Given the description of an element on the screen output the (x, y) to click on. 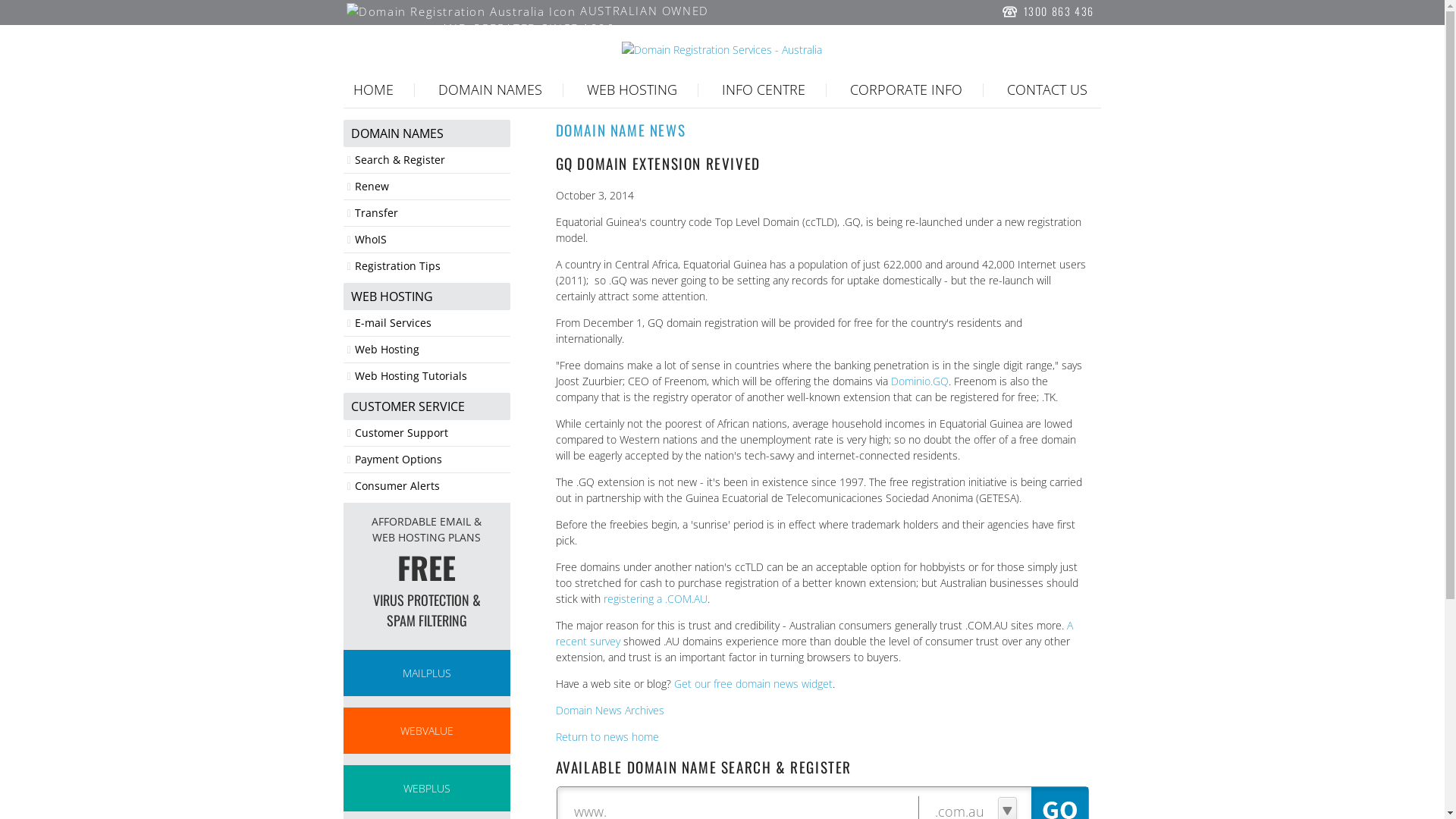
Payment Options Element type: text (396, 458)
Web Hosting Tutorials Element type: text (409, 375)
CORPORATE INFO Element type: text (906, 89)
WEBVALUE Element type: text (426, 730)
Customer Support Element type: text (399, 432)
WEB HOSTING Element type: text (631, 89)
Renew Element type: text (370, 185)
Consumer Alerts Element type: text (395, 485)
DOMAIN NAME NEWS Element type: text (823, 130)
CONTACT US Element type: text (1047, 89)
1300 863 436 Element type: text (1045, 12)
E-mail Services Element type: text (391, 322)
Web Hosting Element type: text (385, 349)
CUSTOMER SERVICE Element type: text (405, 406)
DOMAIN NAMES Element type: text (490, 89)
WEBPLUS Element type: text (426, 788)
Registration Tips Element type: text (395, 265)
Dominio.GQ Element type: text (919, 380)
Transfer Element type: text (374, 212)
Domain News Archives Element type: text (609, 709)
Search & Register Element type: text (398, 159)
Return to news home Element type: text (606, 736)
A recent survey Element type: text (814, 633)
WhoIS Element type: text (368, 239)
DOMAIN NAMES Element type: text (395, 133)
WEB HOSTING Element type: text (390, 296)
registering a .COM.AU Element type: text (655, 598)
Get our free domain news widget Element type: text (753, 683)
INFO CENTRE Element type: text (763, 89)
HOME Element type: text (373, 89)
MAILPLUS Element type: text (426, 672)
